Given the description of an element on the screen output the (x, y) to click on. 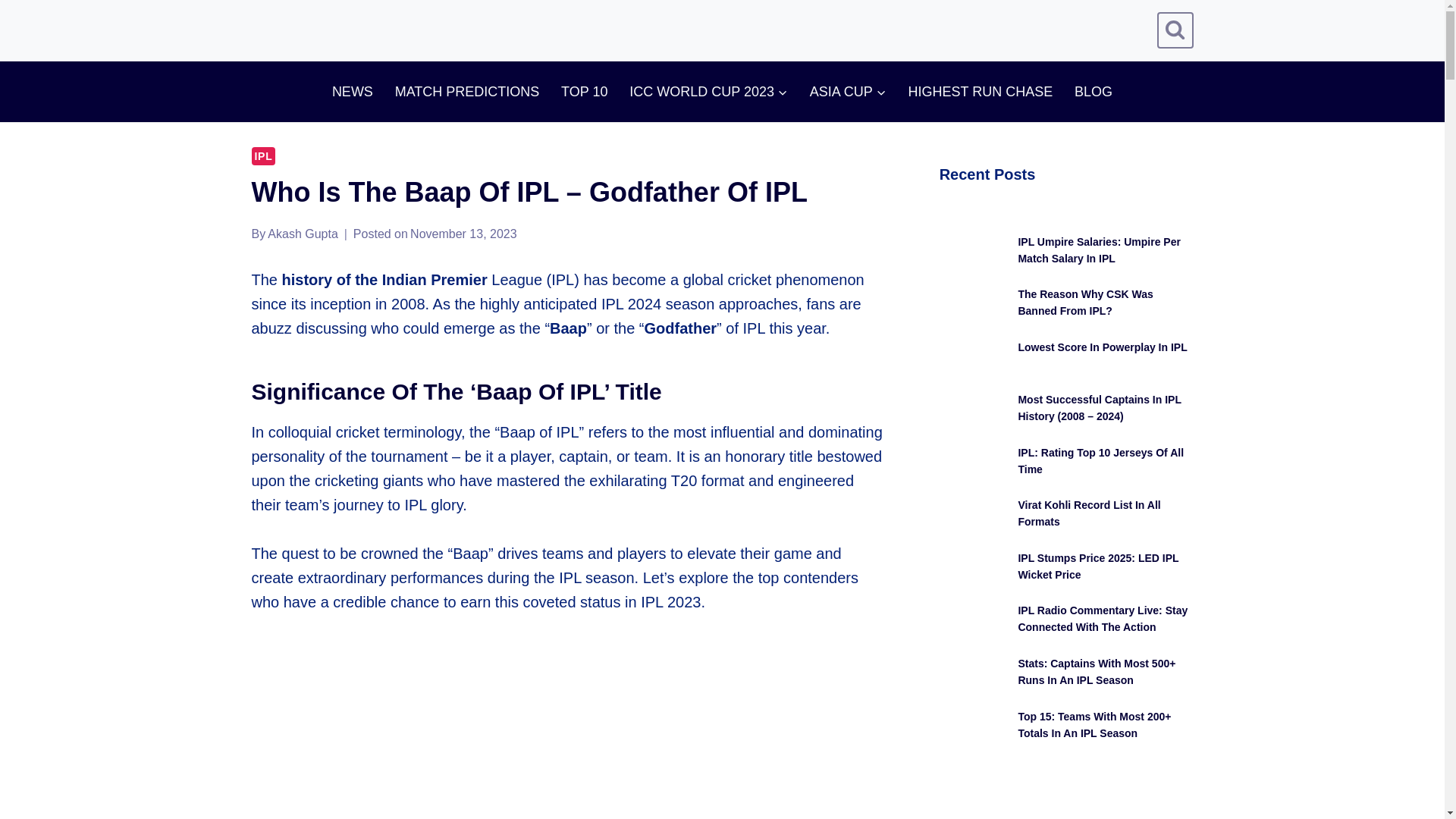
Akash Gupta (302, 233)
NEWS (352, 91)
IPL (263, 156)
MATCH PREDICTIONS (467, 91)
BLOG (1094, 91)
ASIA CUP (846, 91)
ICC WORLD CUP 2023 (708, 91)
TOP 10 (584, 91)
HIGHEST RUN CHASE (979, 91)
